Given the description of an element on the screen output the (x, y) to click on. 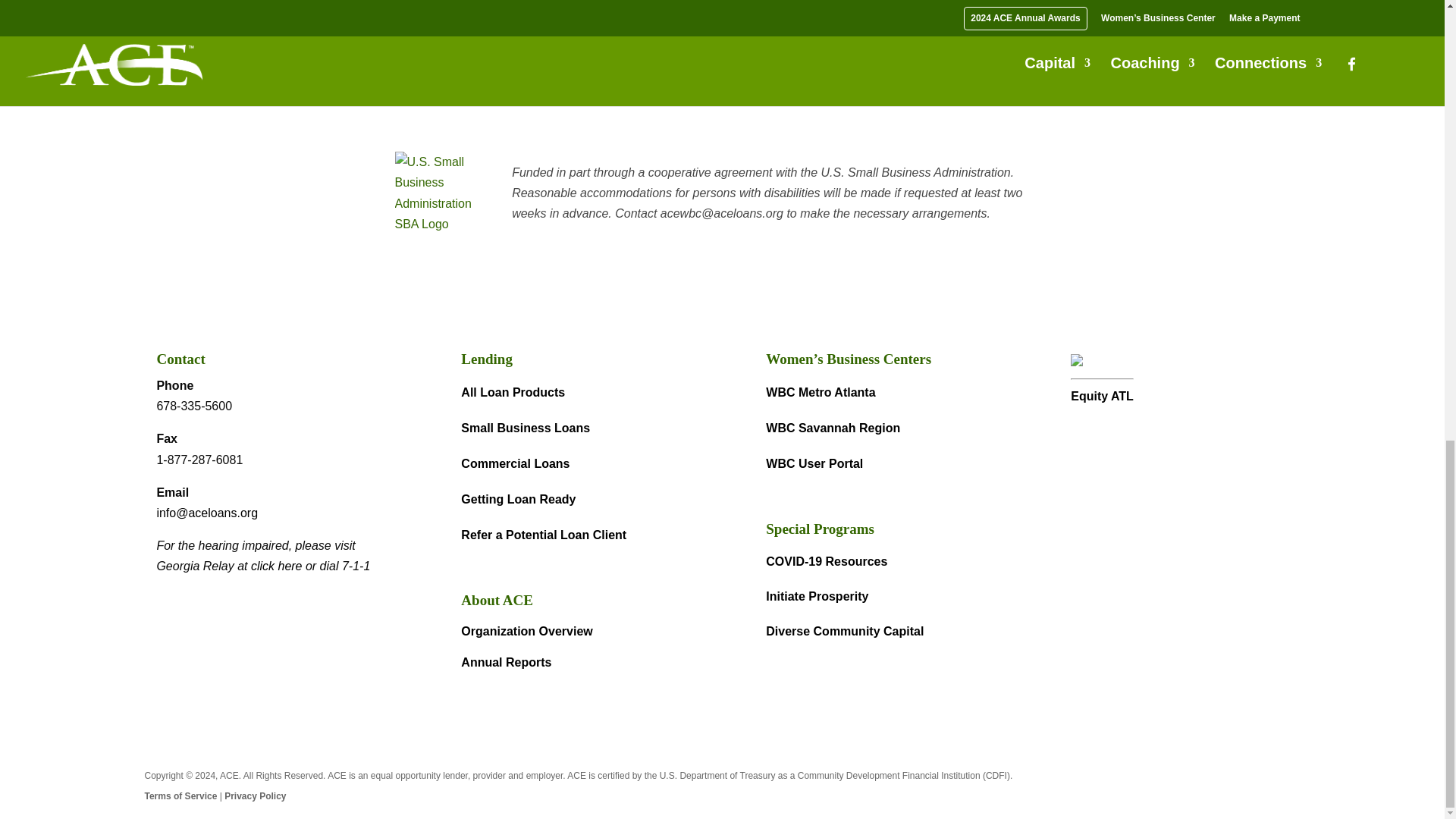
Login (434, 31)
